Given the description of an element on the screen output the (x, y) to click on. 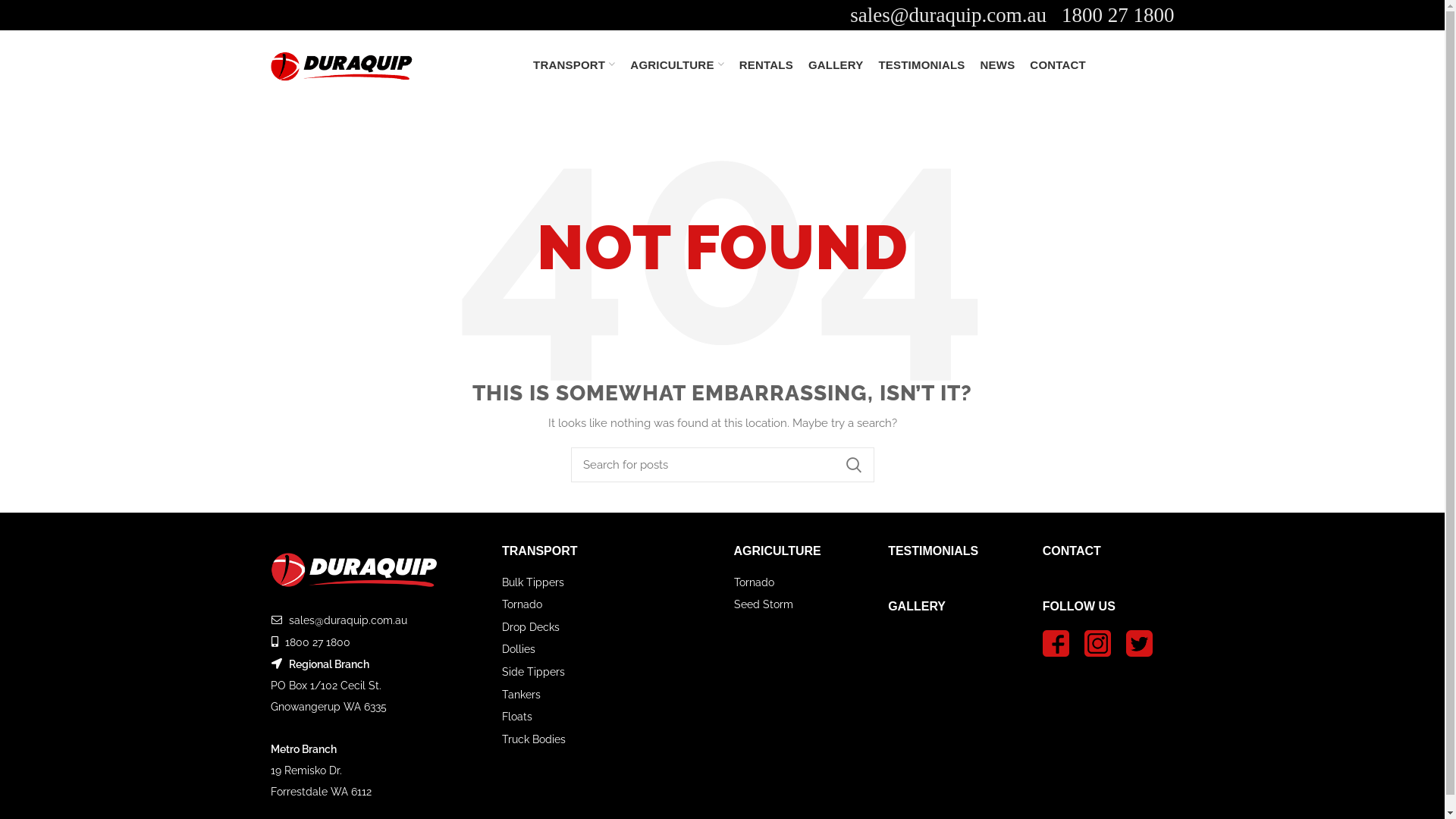
Dollies Element type: text (518, 649)
TRANSPORT Element type: text (539, 550)
1800 27 1800 Element type: text (1117, 14)
Drop Decks Element type: text (530, 627)
1800 27 1800 Element type: text (317, 642)
GALLERY Element type: text (835, 64)
Truck Bodies Element type: text (533, 739)
TESTIMONIALS Element type: text (933, 550)
RENTALS Element type: text (765, 64)
sales@duraquip.com.au Element type: text (948, 14)
Side Tippers Element type: text (533, 671)
GALLERY Element type: text (916, 605)
Tankers Element type: text (521, 694)
AGRICULTURE Element type: text (676, 64)
SEARCH Element type: text (853, 464)
NEWS Element type: text (997, 64)
AGRICULTURE Element type: text (777, 550)
Bulk Tippers Element type: text (533, 582)
Seed Storm Element type: text (763, 604)
TESTIMONIALS Element type: text (921, 64)
CONTACT Element type: text (1071, 550)
CONTACT Element type: text (1057, 64)
Tornado Element type: text (522, 604)
sales@duraquip.com.au Element type: text (347, 620)
Tornado Element type: text (754, 582)
Floats Element type: text (517, 716)
TRANSPORT Element type: text (573, 64)
